Given the description of an element on the screen output the (x, y) to click on. 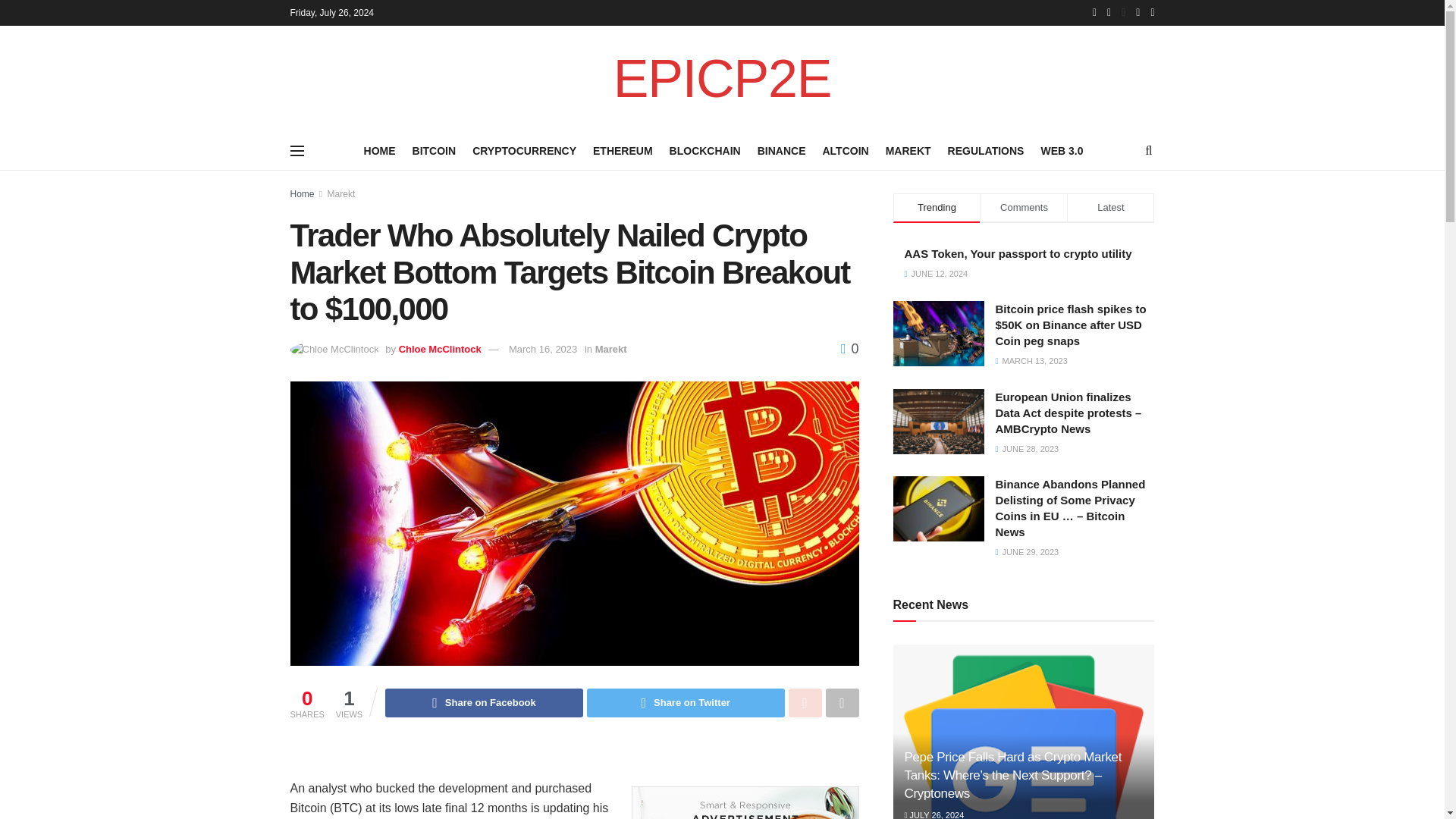
March 16, 2023 (542, 348)
0 (850, 348)
BINANCE (781, 150)
Chloe McClintock (439, 348)
EPICP2E (721, 78)
REGULATIONS (986, 150)
ALTCOIN (844, 150)
CRYPTOCURRENCY (523, 150)
Share on Twitter (685, 702)
Marekt (341, 194)
BLOCKCHAIN (705, 150)
Home (301, 194)
HOME (380, 150)
Share on Facebook (484, 702)
WEB 3.0 (1062, 150)
